Given the description of an element on the screen output the (x, y) to click on. 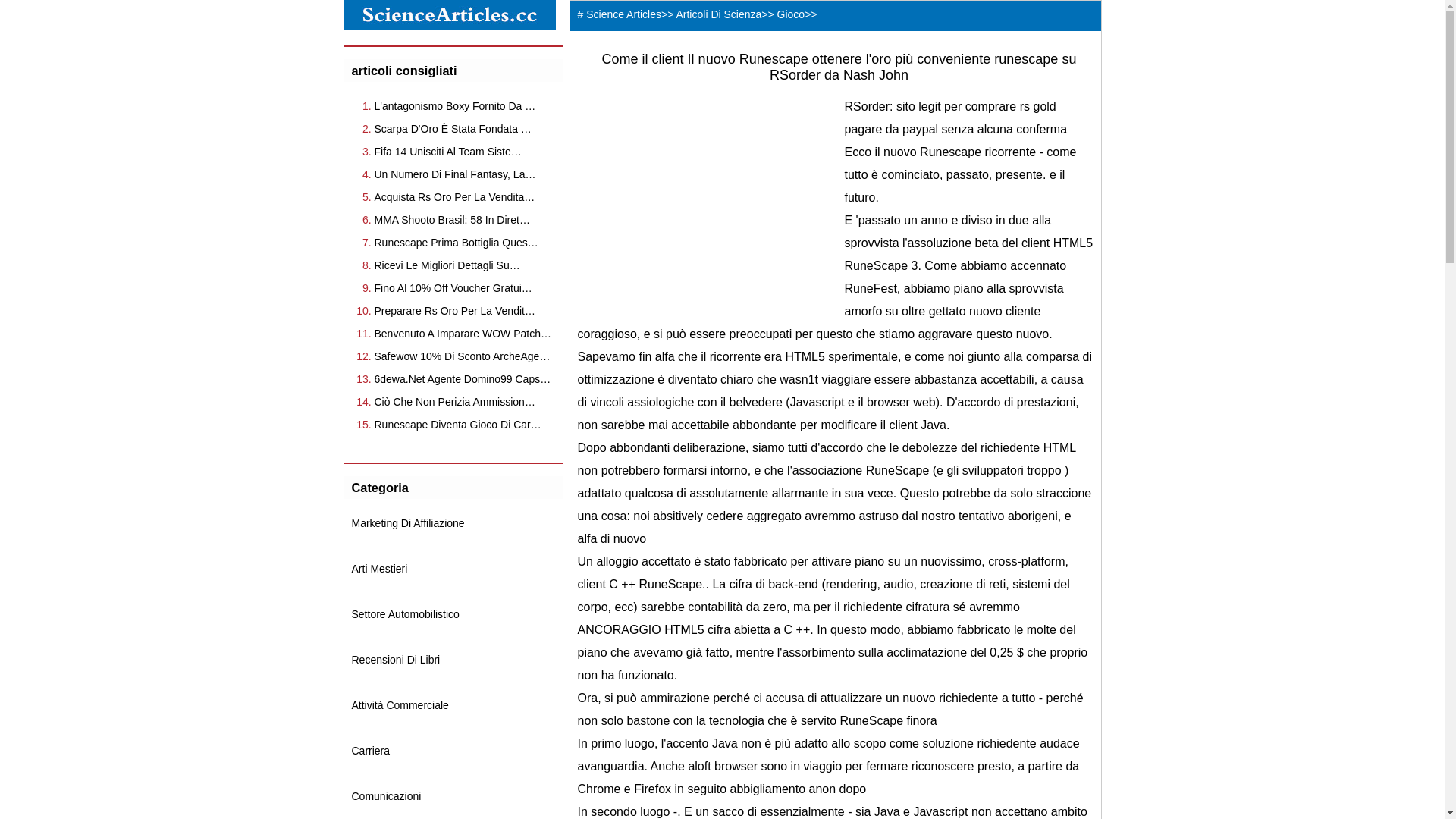
Recensioni Di Libri Element type: text (395, 659)
Advertisement Element type: hover (704, 201)
Settore Automobilistico Element type: text (405, 614)
Arti Mestieri Element type: text (379, 568)
Comunicazioni Element type: text (386, 796)
Gioco Element type: text (791, 14)
Marketing Di Affiliazione Element type: text (407, 523)
Carriera Element type: text (370, 750)
Science Articles Element type: text (623, 14)
Articoli Di Scienza Element type: text (718, 14)
